Given the description of an element on the screen output the (x, y) to click on. 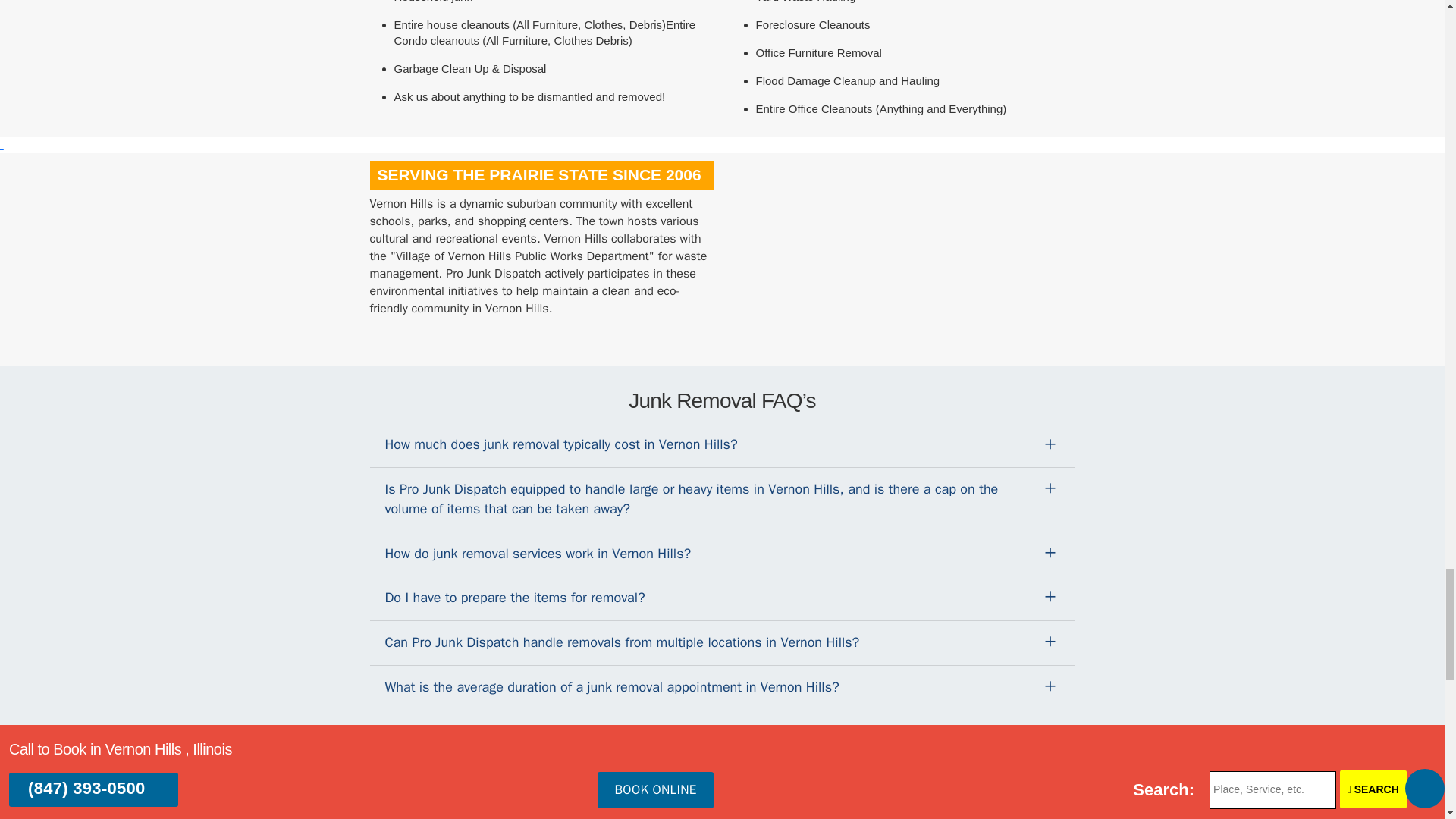
Pro Junk Dispatch art drawing of State of Illinois (852, 251)
Foreclosure Cleanouts (812, 24)
How much does junk removal typically cost in Vernon Hills? (722, 444)
